Given the description of an element on the screen output the (x, y) to click on. 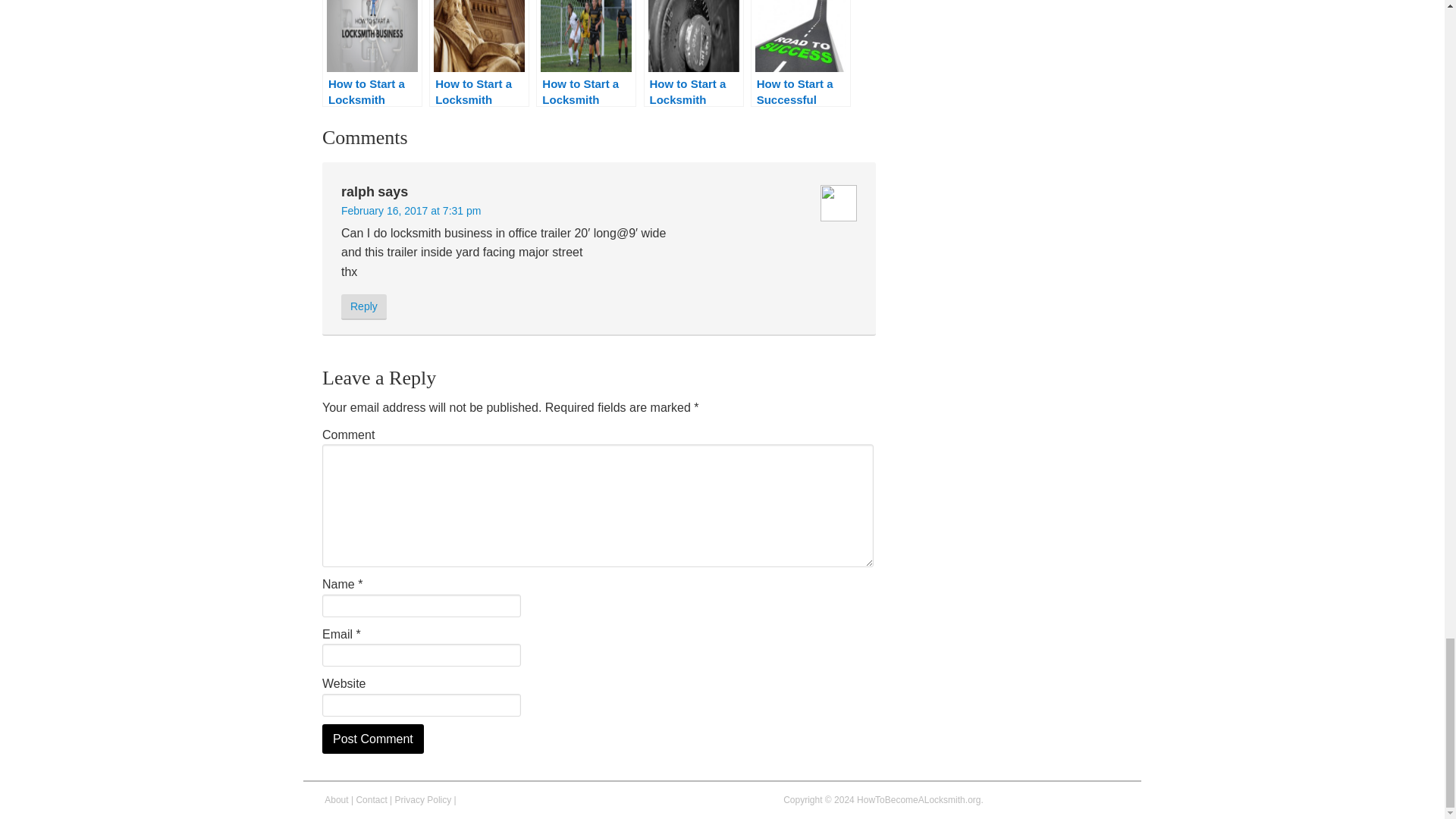
How to Start a Locksmith Business: An In-depth Series (371, 53)
Reply (363, 307)
Post Comment (372, 738)
Post Comment (372, 738)
How to Start a Locksmith Business: State Laws (479, 53)
How to Start a Successful Locksmith Business (800, 53)
How to Start a Locksmith Business: Setting the Right Goals (585, 53)
How to Start a Successful Locksmith Business (800, 53)
How to Start a Locksmith Business: An In-depth Series (371, 53)
How to Start a Locksmith Business: Test Your Skills (693, 53)
February 16, 2017 at 7:31 pm (410, 210)
How to Start a Locksmith Business: Test Your Skills (693, 53)
How to Start a Locksmith Business: Setting the Right Goals (585, 53)
How to Start a Locksmith Business: State Laws (479, 53)
